Given the description of an element on the screen output the (x, y) to click on. 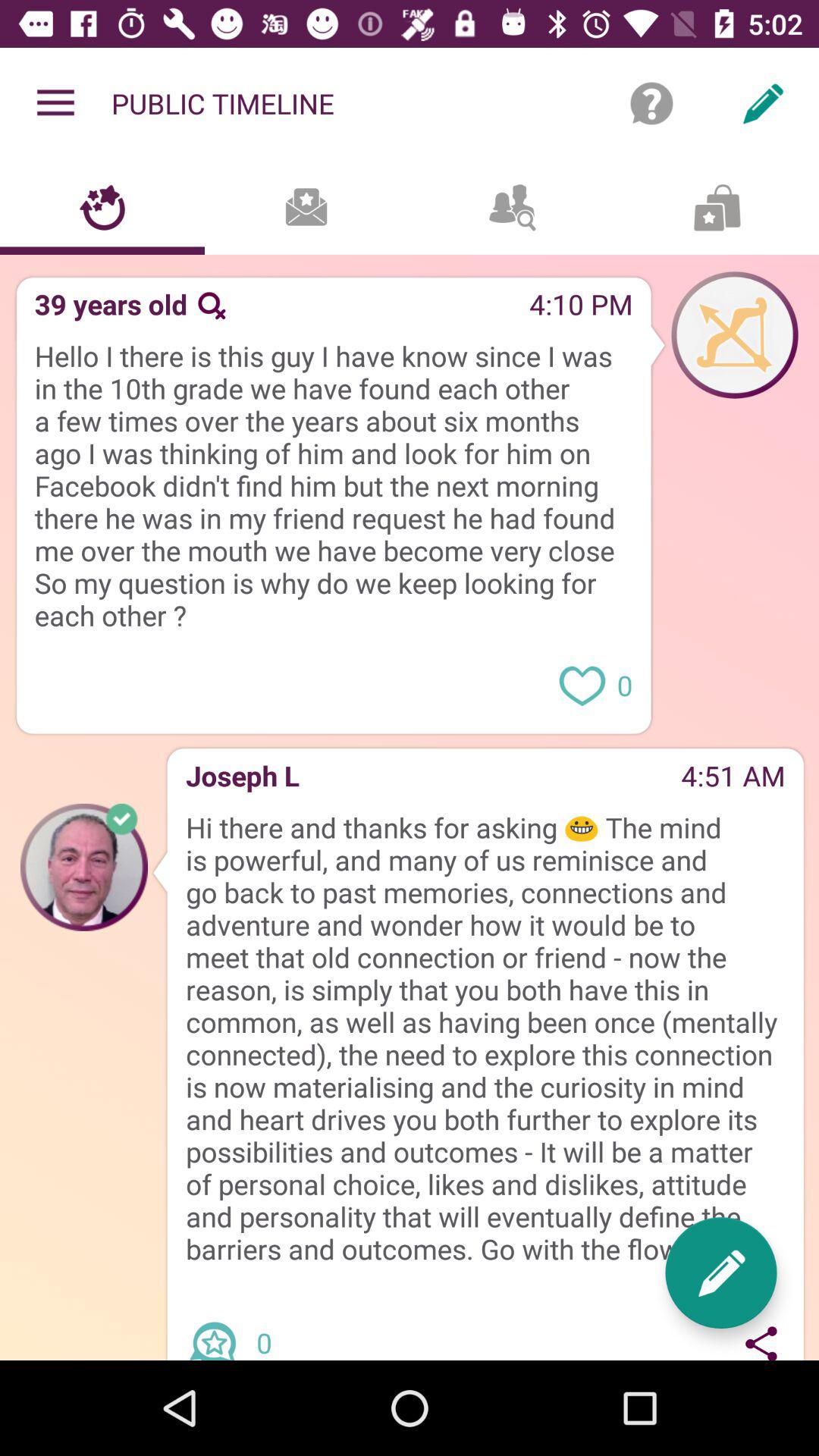
love message (582, 684)
